Given the description of an element on the screen output the (x, y) to click on. 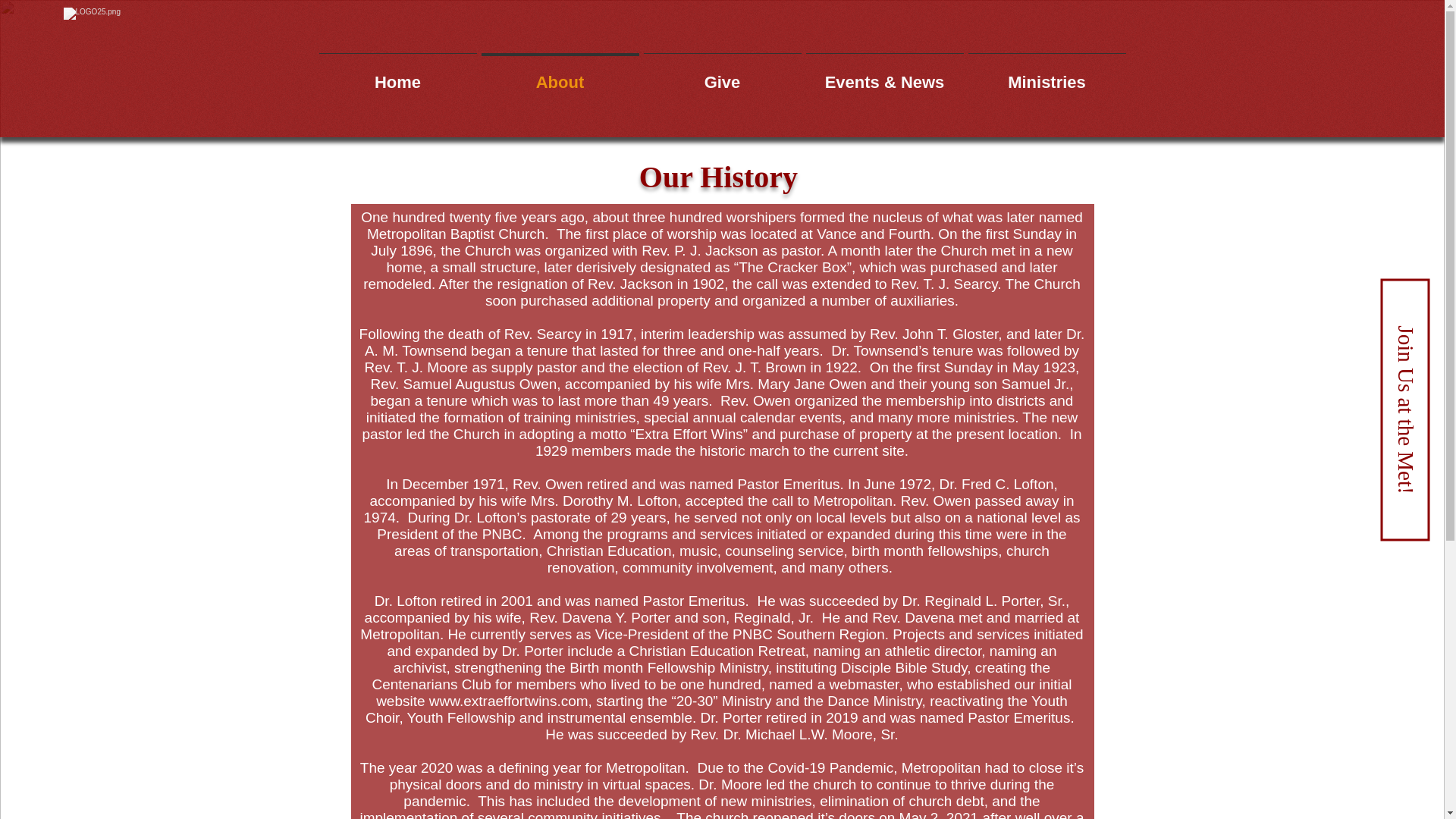
Give (722, 75)
www.extraeffortwins.com (508, 700)
Home (398, 75)
Ministries (1047, 75)
About (560, 75)
